Given the description of an element on the screen output the (x, y) to click on. 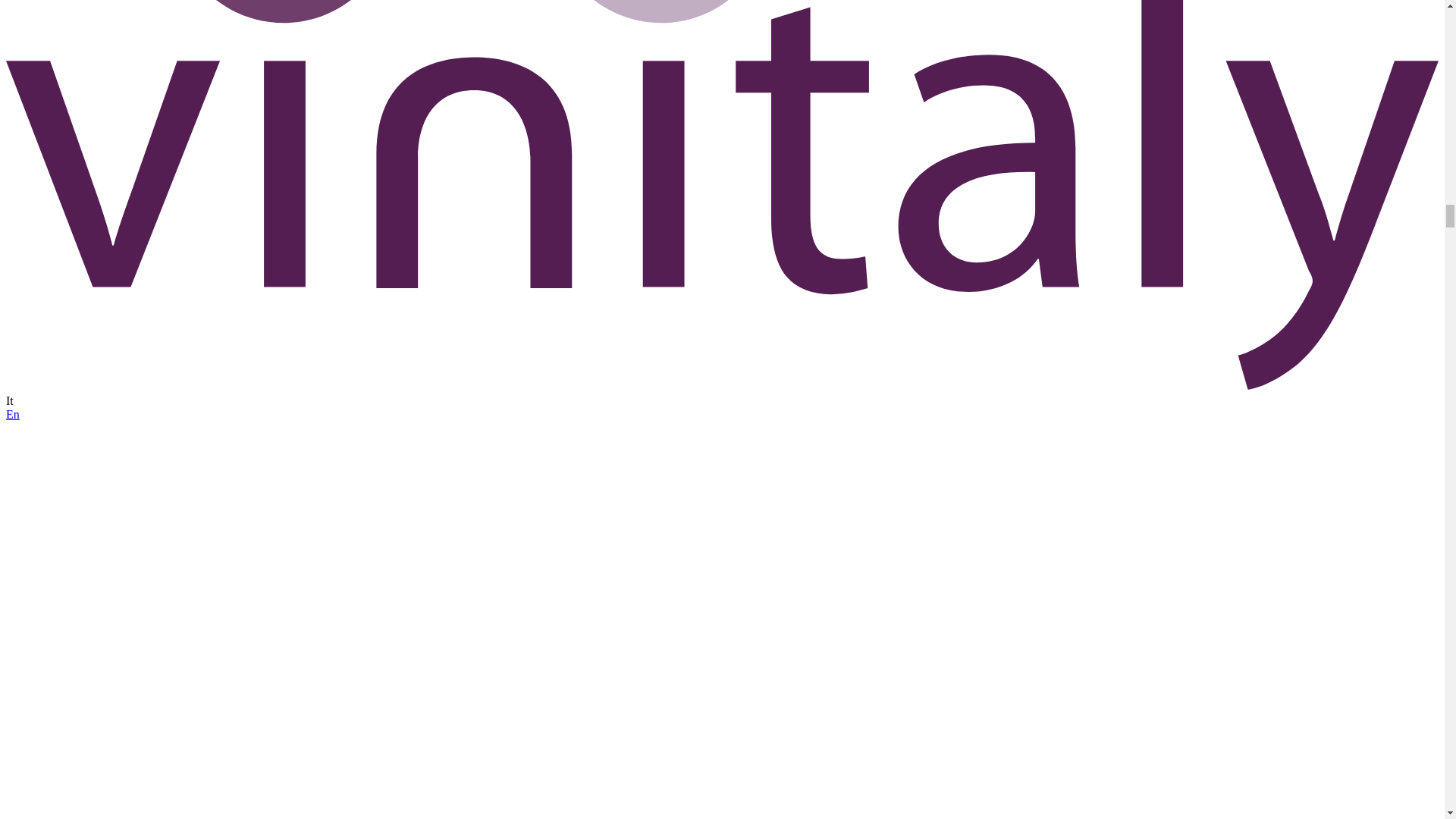
En (12, 413)
En (12, 413)
